Given the description of an element on the screen output the (x, y) to click on. 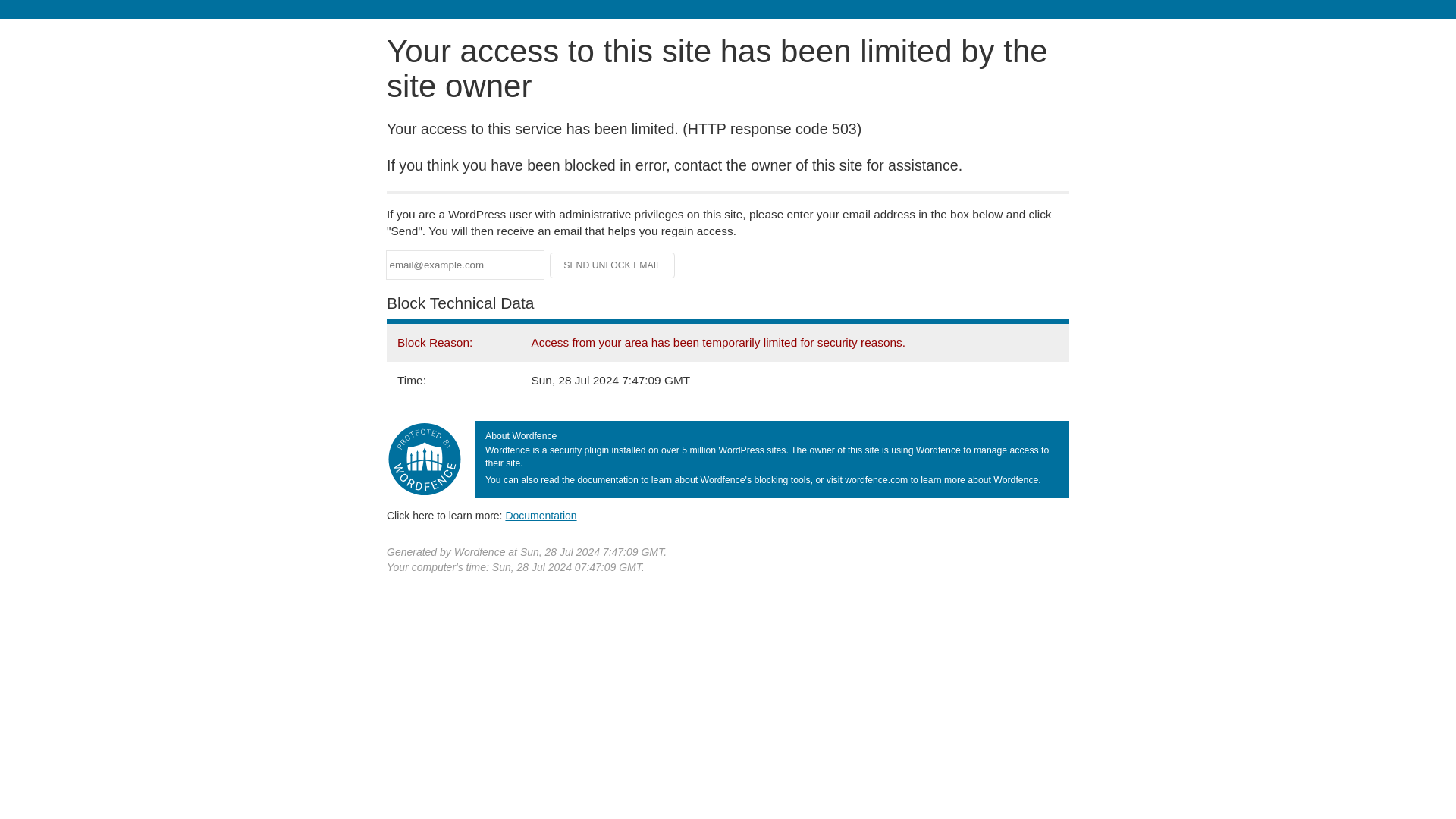
Send Unlock Email (612, 265)
Documentation (540, 515)
Send Unlock Email (612, 265)
